Given the description of an element on the screen output the (x, y) to click on. 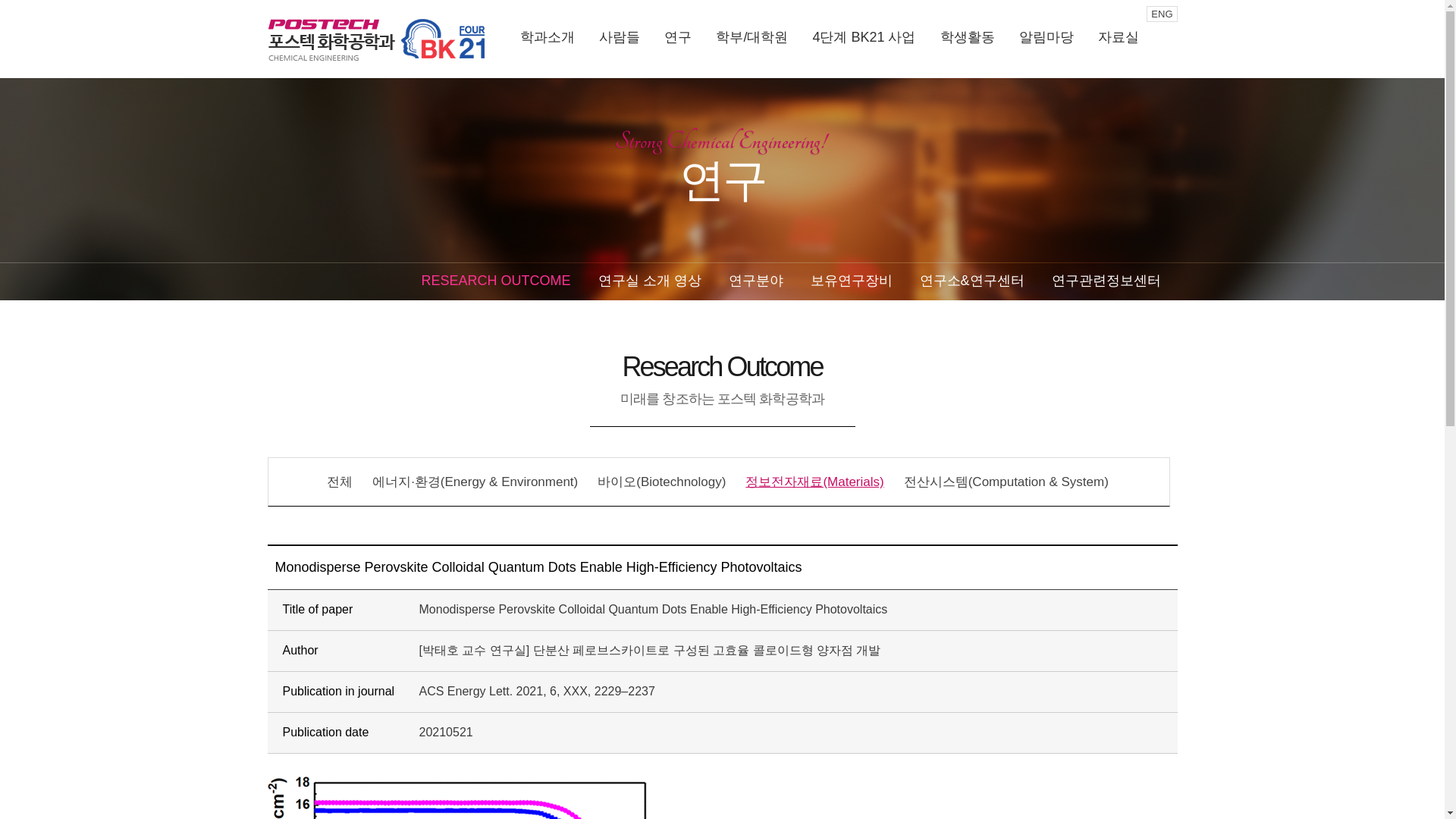
ENG (1161, 13)
